Given the description of an element on the screen output the (x, y) to click on. 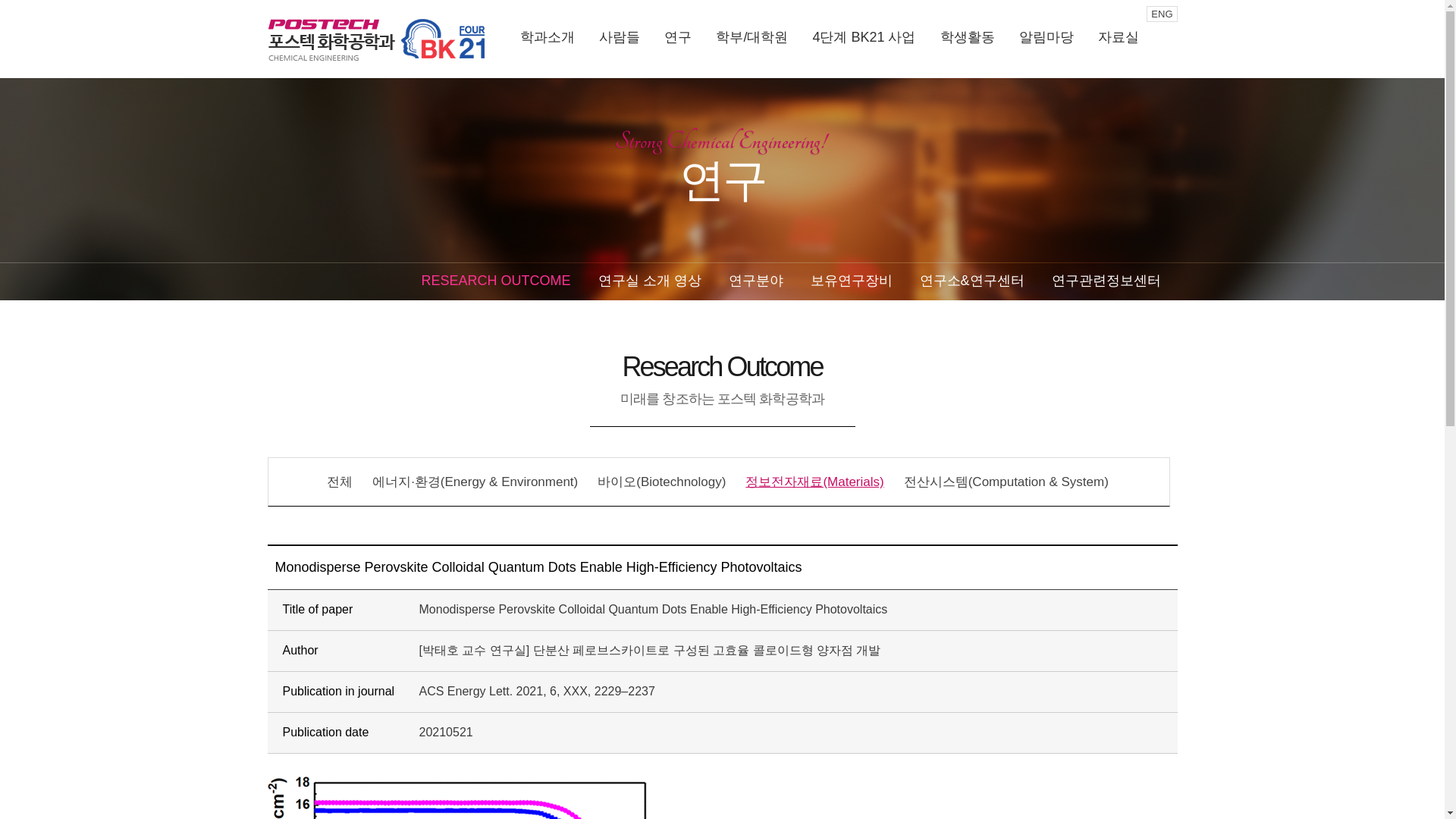
ENG (1161, 13)
